Given the description of an element on the screen output the (x, y) to click on. 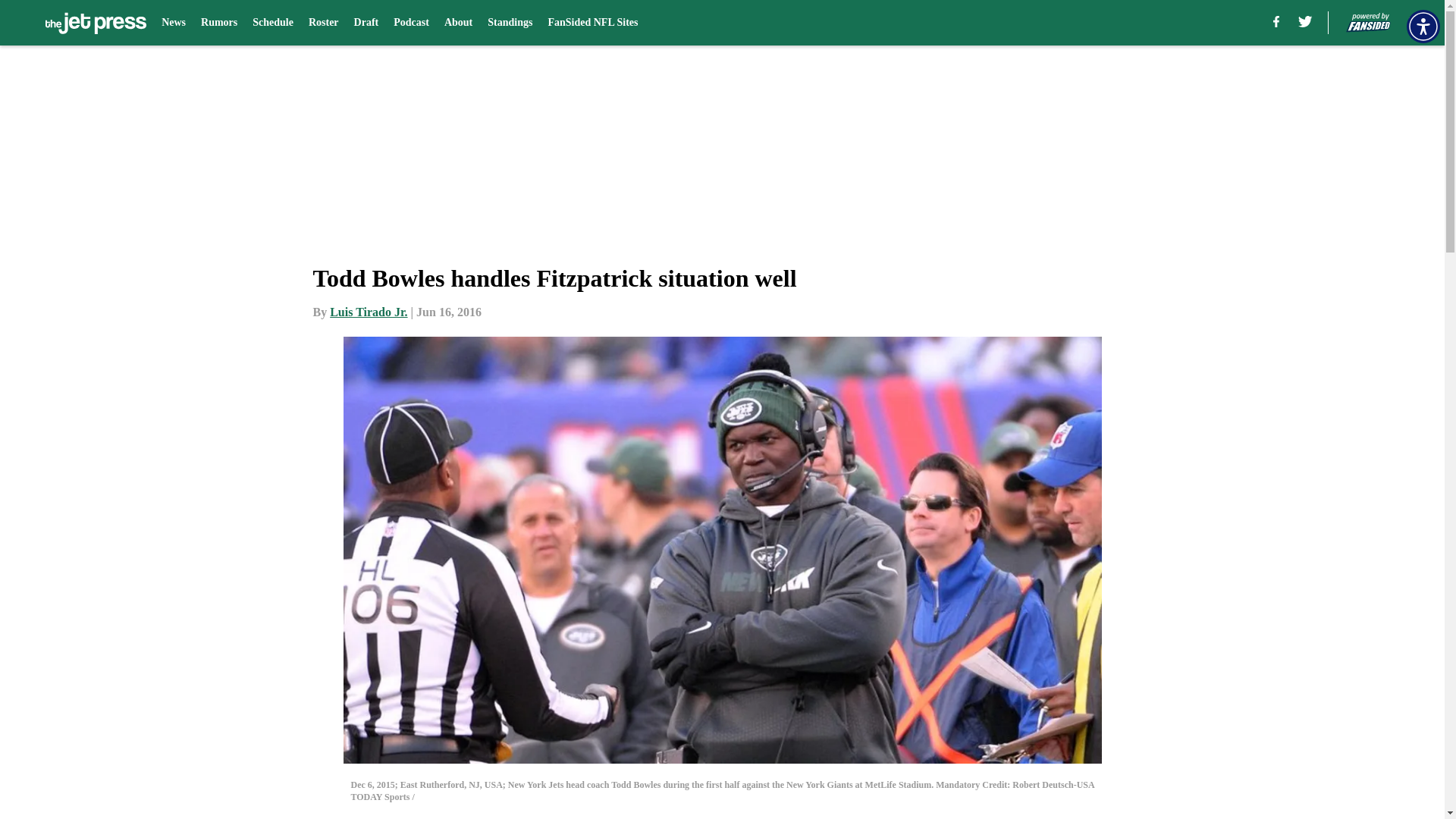
Roster (323, 22)
FanSided NFL Sites (592, 22)
Podcast (411, 22)
Luis Tirado Jr. (368, 311)
About (457, 22)
Rumors (218, 22)
Draft (365, 22)
Accessibility Menu (1422, 26)
News (173, 22)
